Given the description of an element on the screen output the (x, y) to click on. 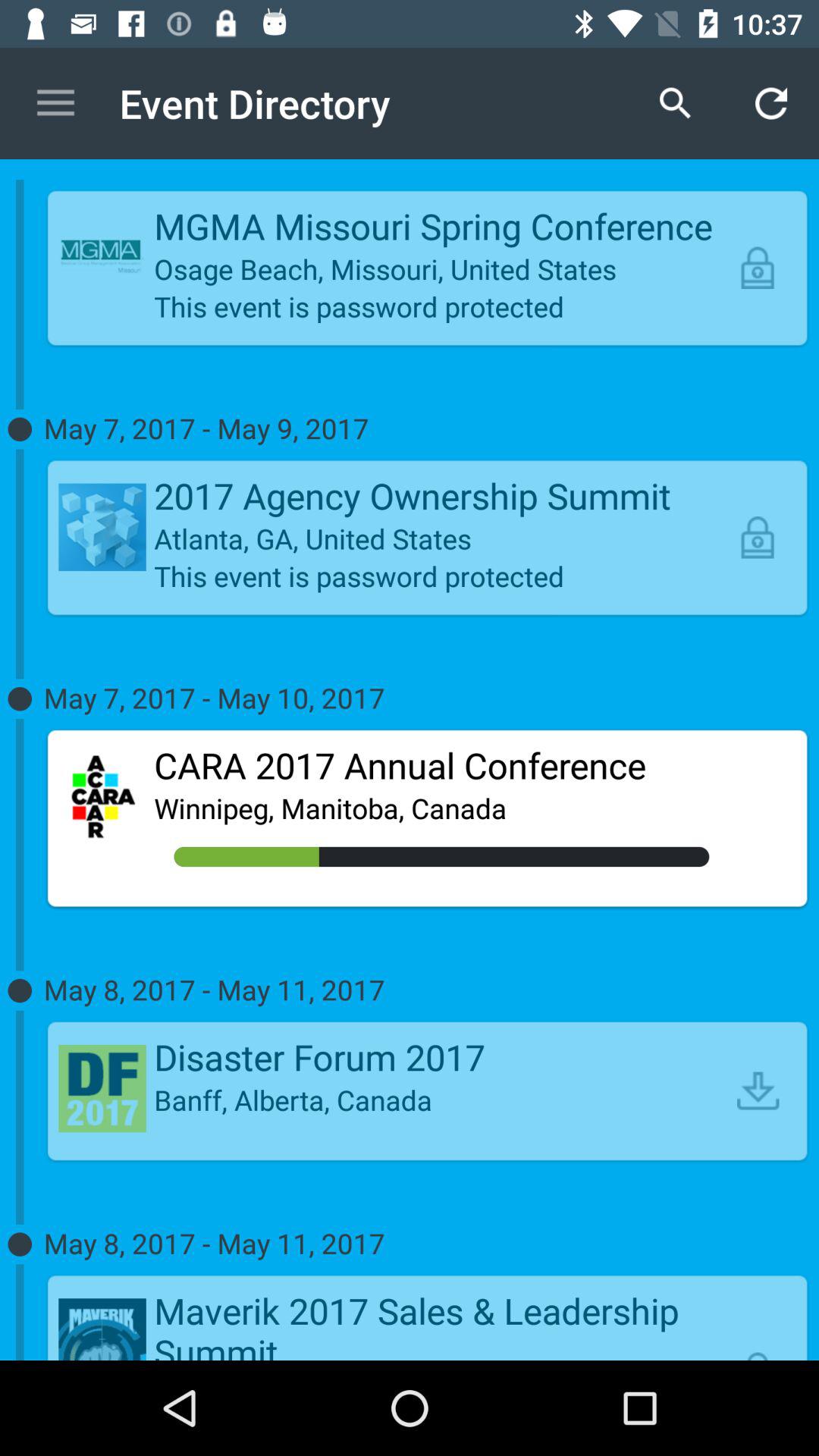
scroll until the atlanta ga united (441, 538)
